Given the description of an element on the screen output the (x, y) to click on. 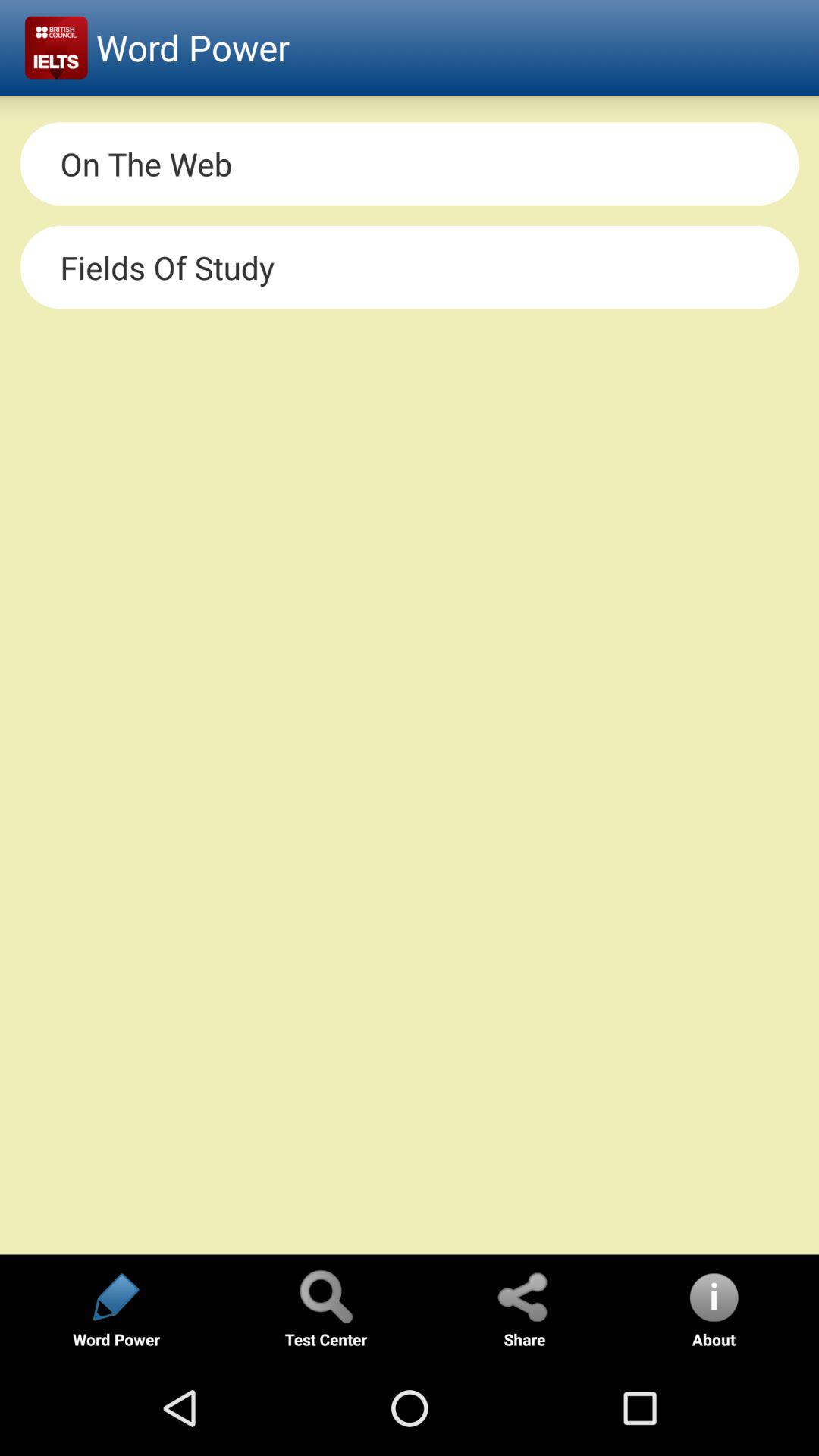
search test center (325, 1296)
